Given the description of an element on the screen output the (x, y) to click on. 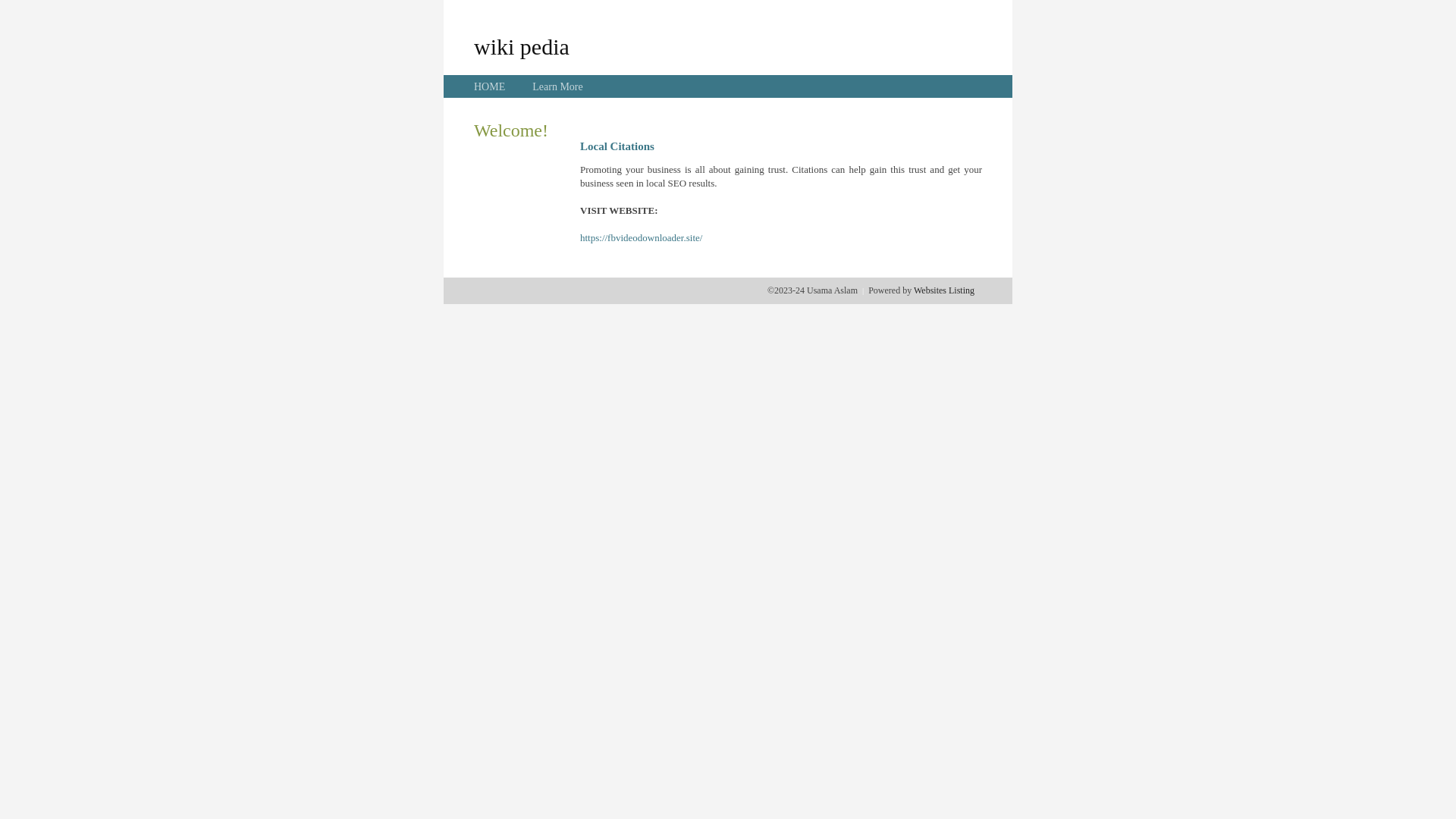
HOME Element type: text (489, 86)
wiki pedia Element type: text (521, 46)
https://fbvideodownloader.site/ Element type: text (641, 237)
Learn More Element type: text (557, 86)
Websites Listing Element type: text (943, 290)
